Given the description of an element on the screen output the (x, y) to click on. 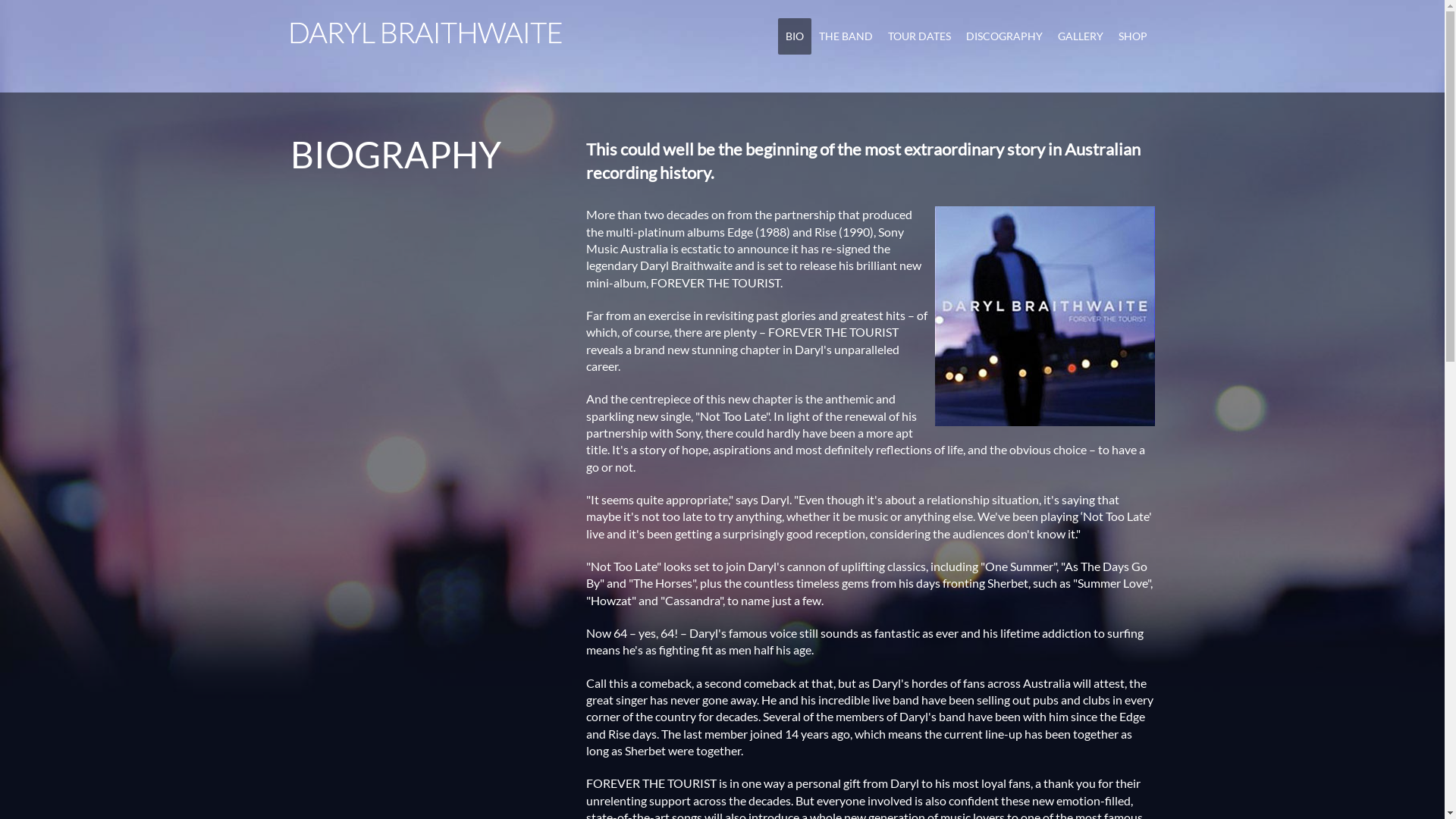
BIO Element type: text (794, 36)
DISCOGRAPHY Element type: text (1004, 36)
TOUR DATES Element type: text (918, 36)
THE BAND Element type: text (845, 36)
SHOP Element type: text (1132, 36)
GALLERY Element type: text (1079, 36)
Daryl Braithwaite Official Site Element type: hover (425, 31)
